Given the description of an element on the screen output the (x, y) to click on. 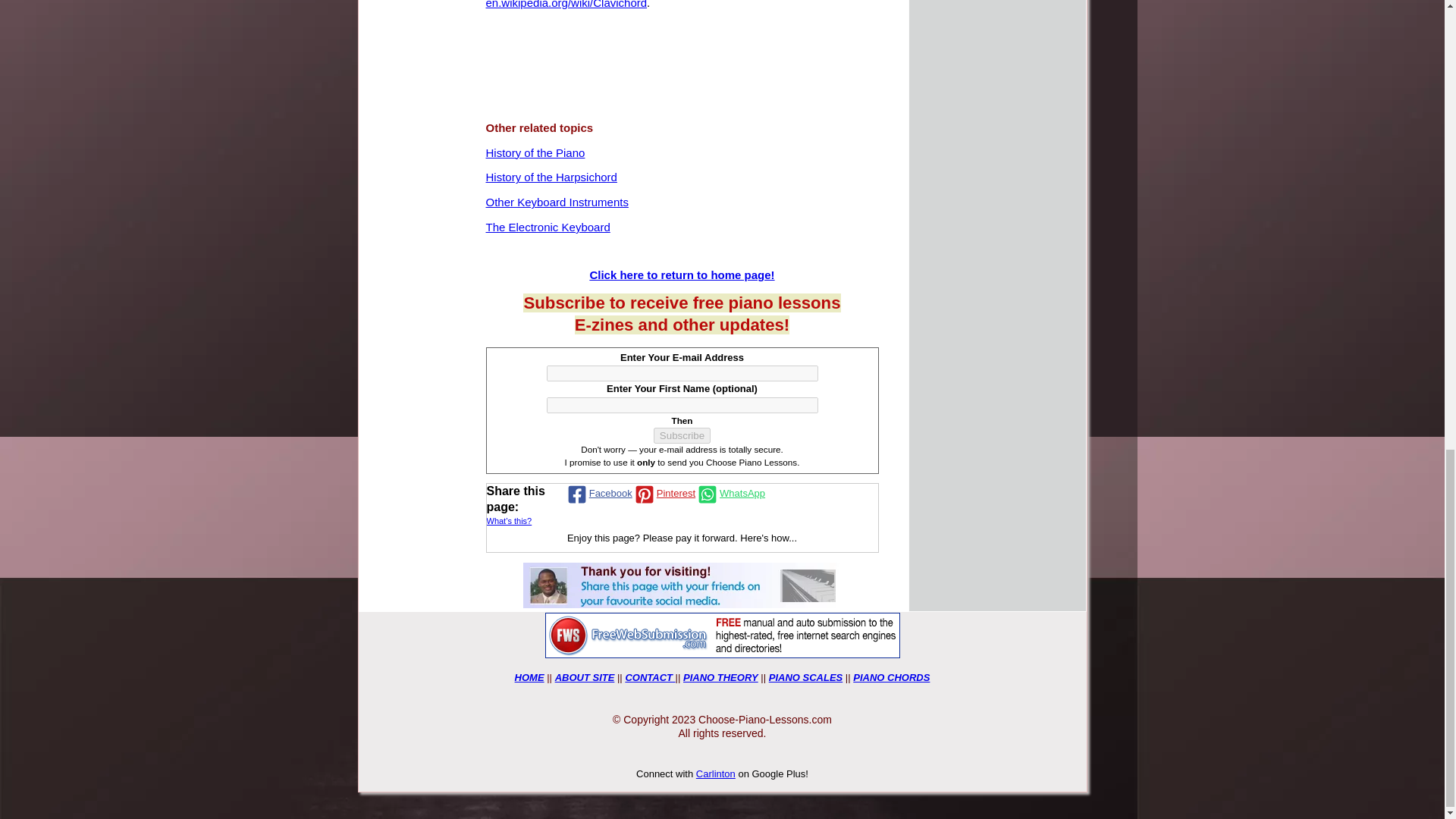
History of the Harpsichord (549, 177)
Click here to return to home page! (681, 275)
The Electronic Keyboard (547, 227)
Other Keyboard Instruments (555, 202)
Pinterest (663, 494)
Subscribe (681, 435)
Facebook (597, 494)
History of the Piano (534, 153)
WhatsApp (730, 494)
